Given the description of an element on the screen output the (x, y) to click on. 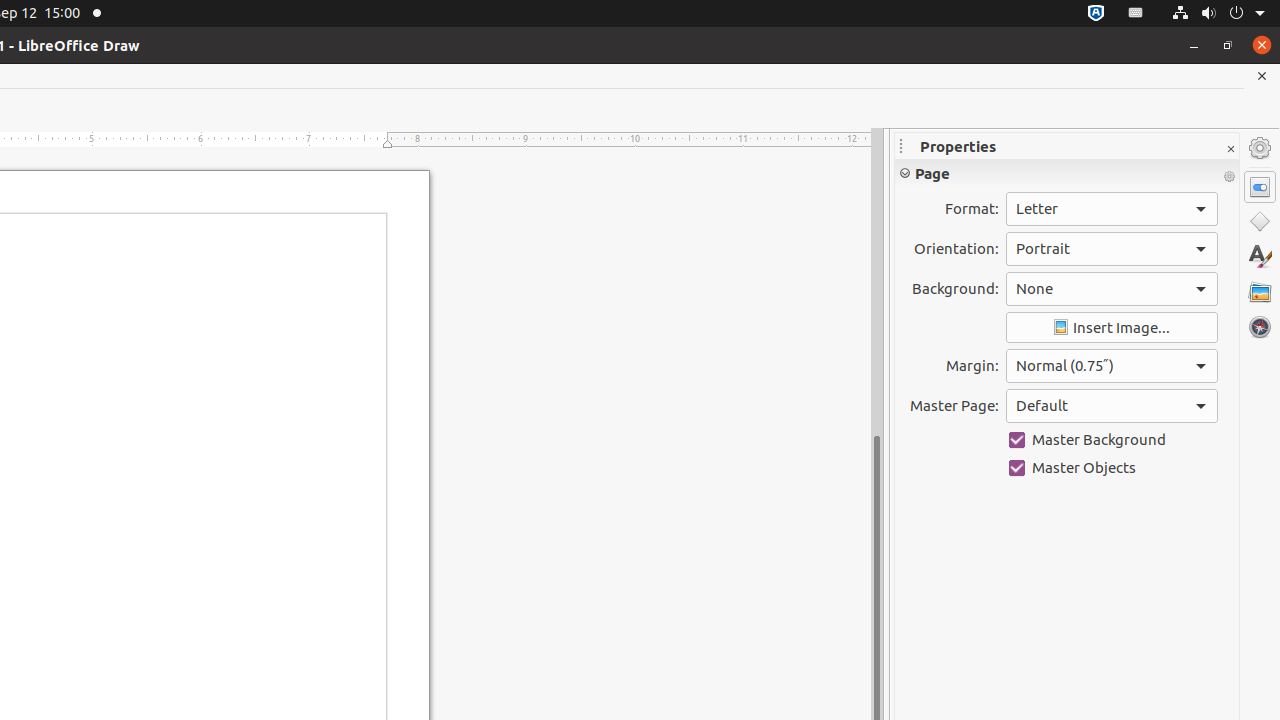
More Options Element type: push-button (1229, 177)
Insert Image Element type: push-button (1112, 327)
Gallery Element type: radio-button (1260, 292)
Close Sidebar Deck Element type: push-button (1230, 149)
Background: Element type: combo-box (1112, 289)
